Given the description of an element on the screen output the (x, y) to click on. 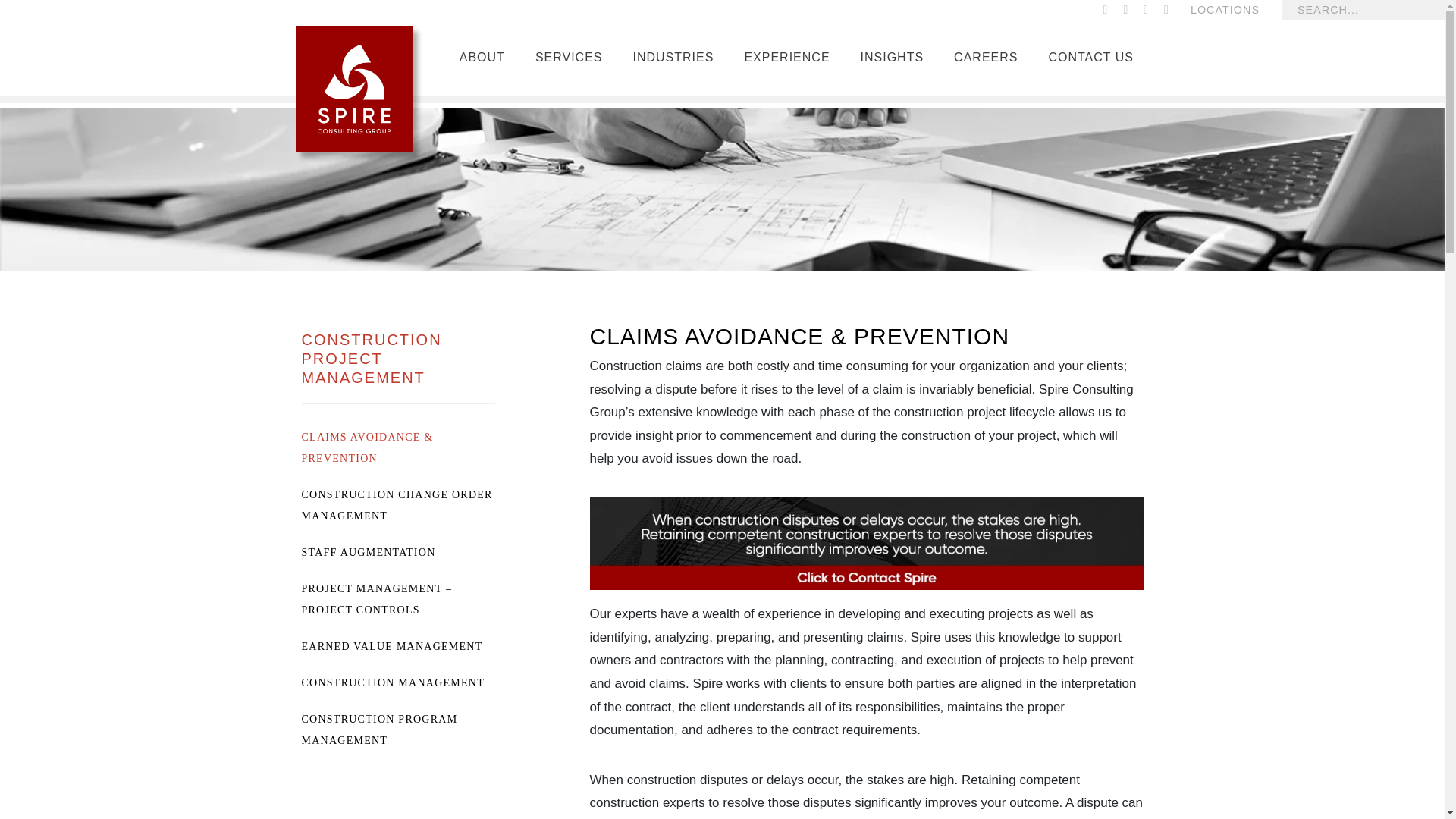
ABOUT (481, 62)
SERVICES (568, 62)
LOCATIONS (1225, 9)
